Given the description of an element on the screen output the (x, y) to click on. 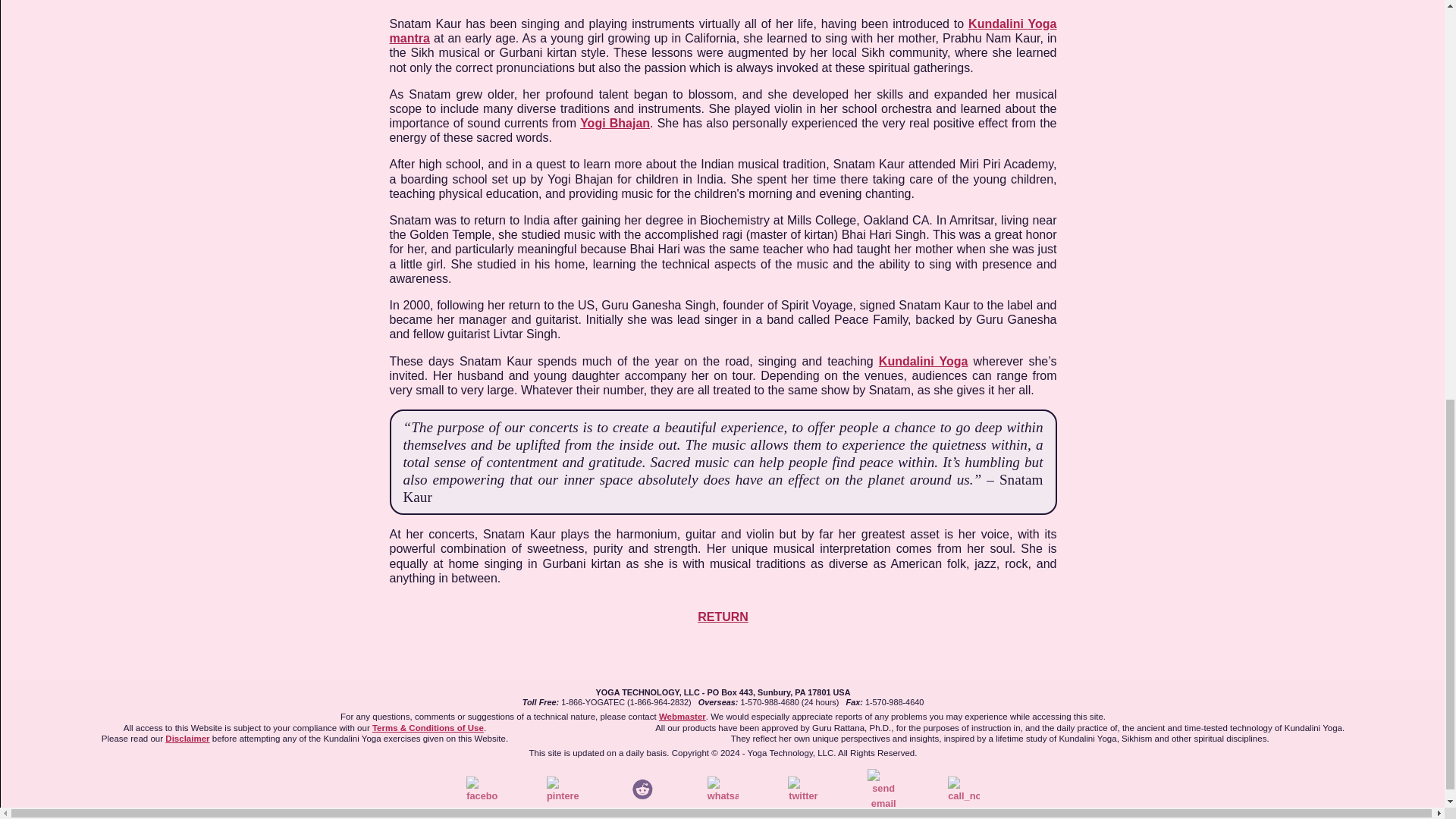
whatsapp (723, 786)
twitter (803, 786)
facebook (481, 786)
pinterest (562, 786)
